Given the description of an element on the screen output the (x, y) to click on. 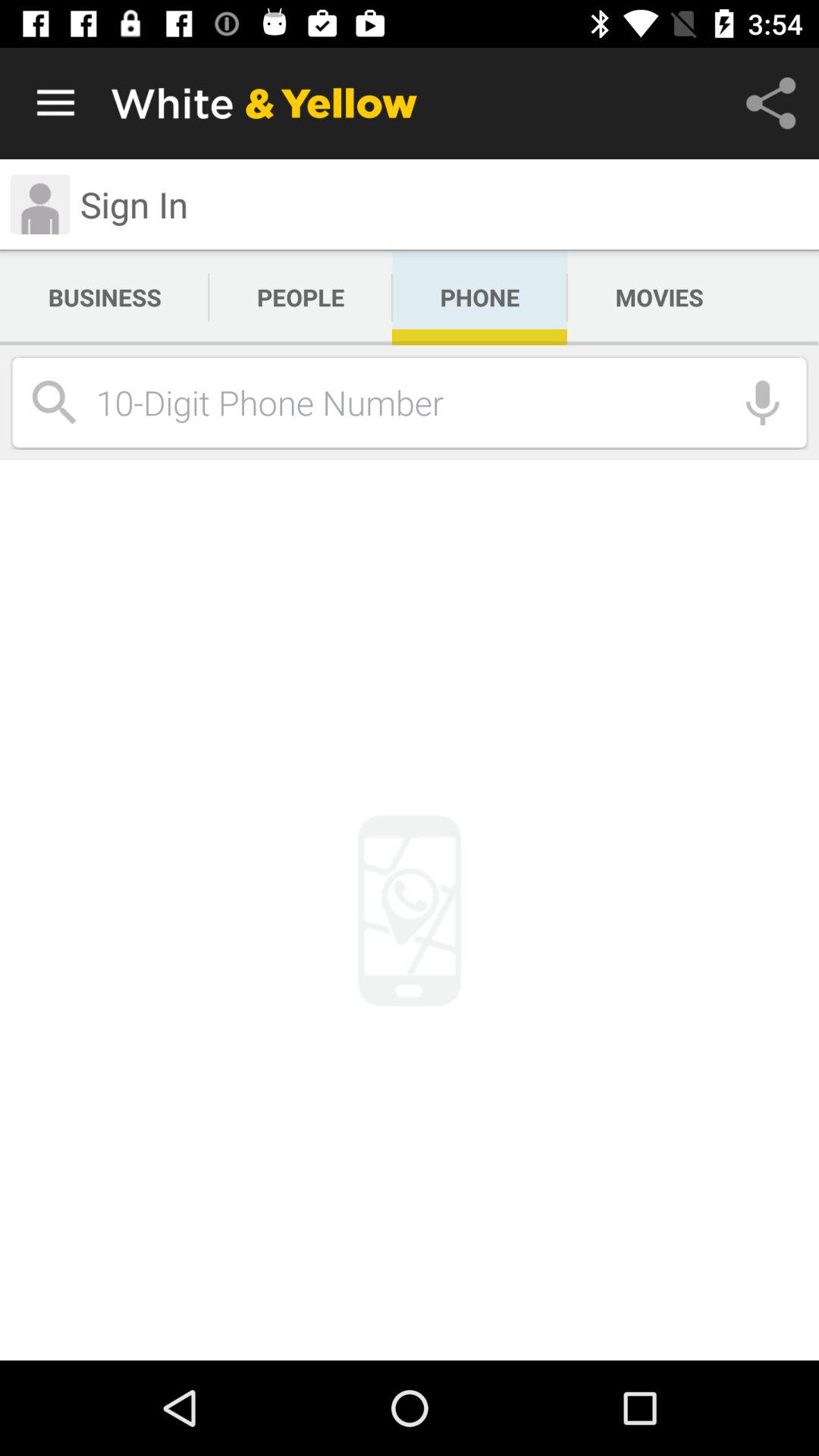
launch icon to the left of movies item (479, 297)
